Given the description of an element on the screen output the (x, y) to click on. 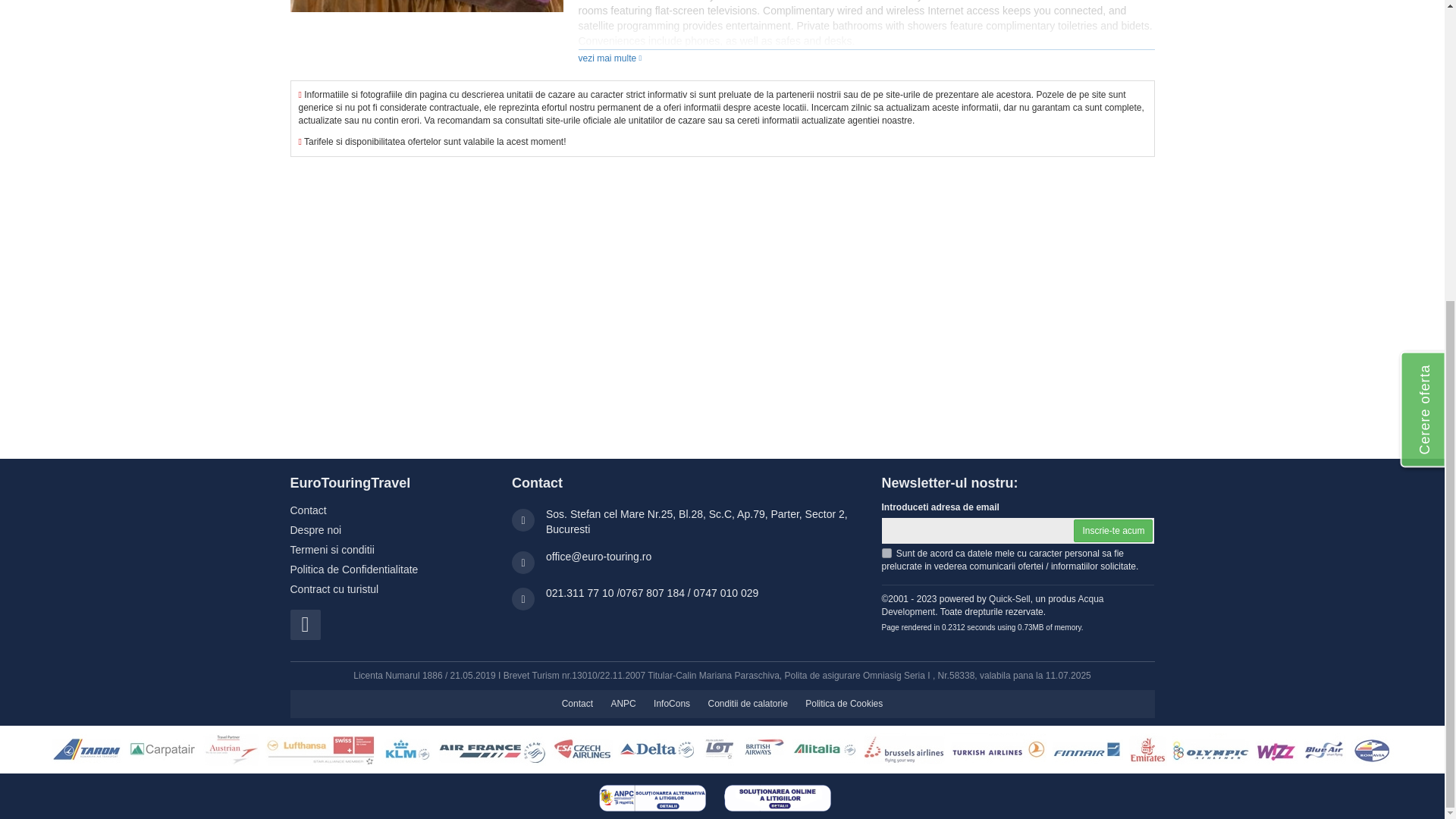
on (885, 552)
